Given the description of an element on the screen output the (x, y) to click on. 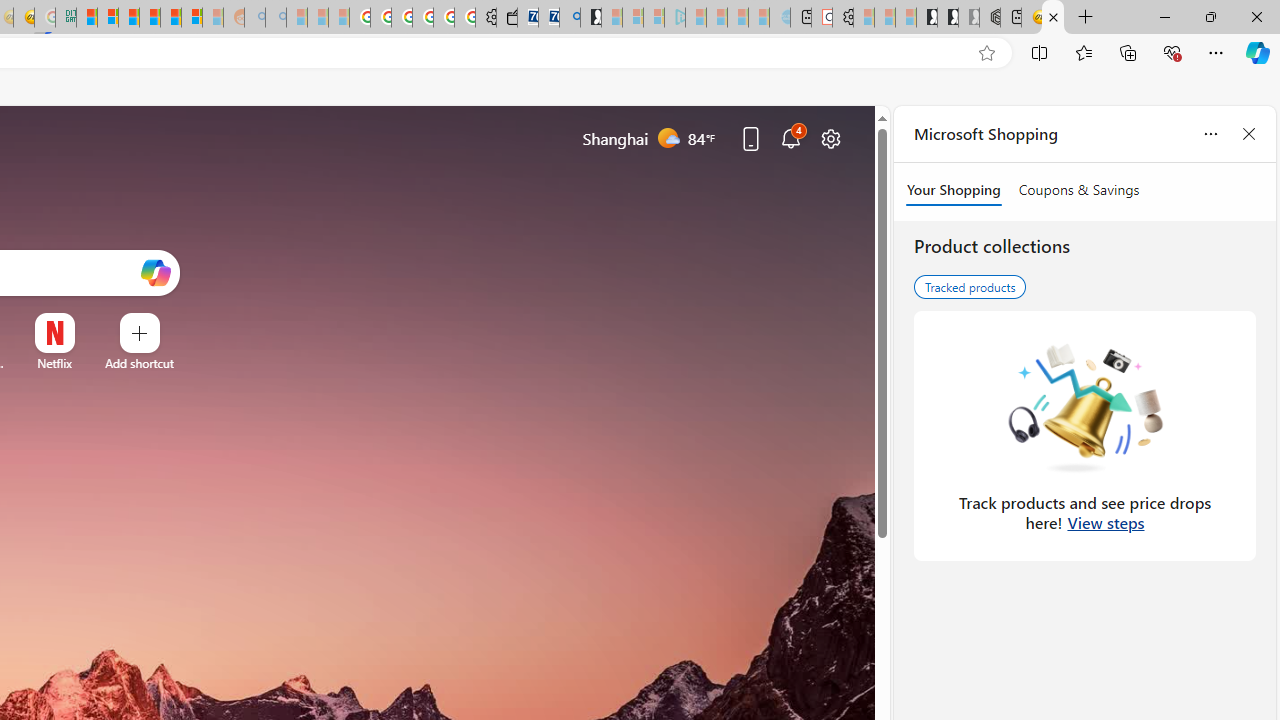
Microsoft Start - Sleeping (737, 17)
Cheap Car Rentals - Save70.com (548, 17)
Bing Real Estate - Home sales and rental listings (569, 17)
Microsoft account | Privacy - Sleeping (653, 17)
MSNBC - MSN (86, 17)
